Given the description of an element on the screen output the (x, y) to click on. 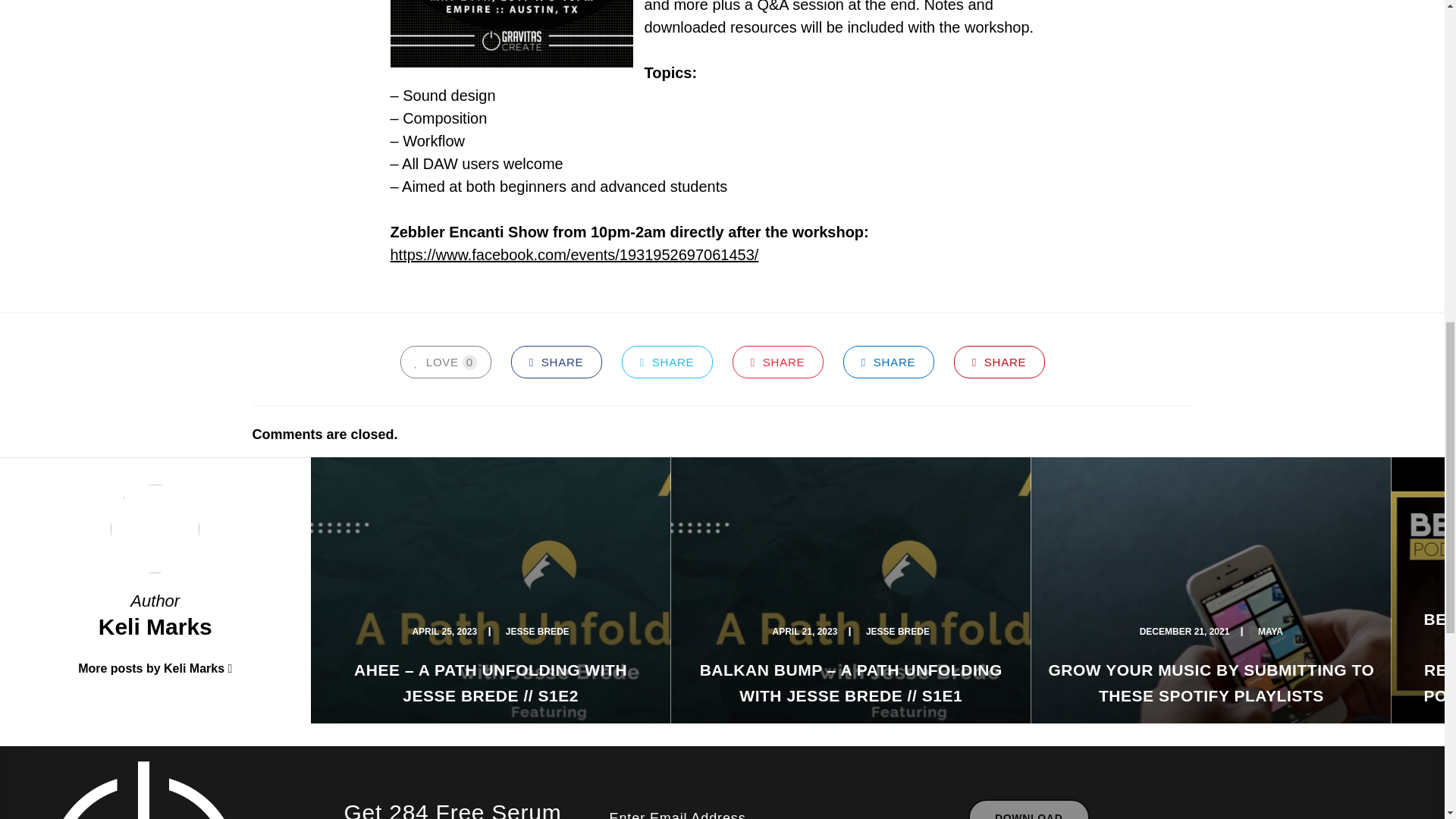
GROW YOUR MUSIC BY SUBMITTING TO THESE SPOTIFY PLAYLISTS (1211, 682)
LOVE 0 (446, 361)
SHARE (778, 361)
SHARE (888, 361)
SHARE (556, 361)
SHARE (667, 361)
SHARE (999, 361)
Download (1028, 809)
